Given the description of an element on the screen output the (x, y) to click on. 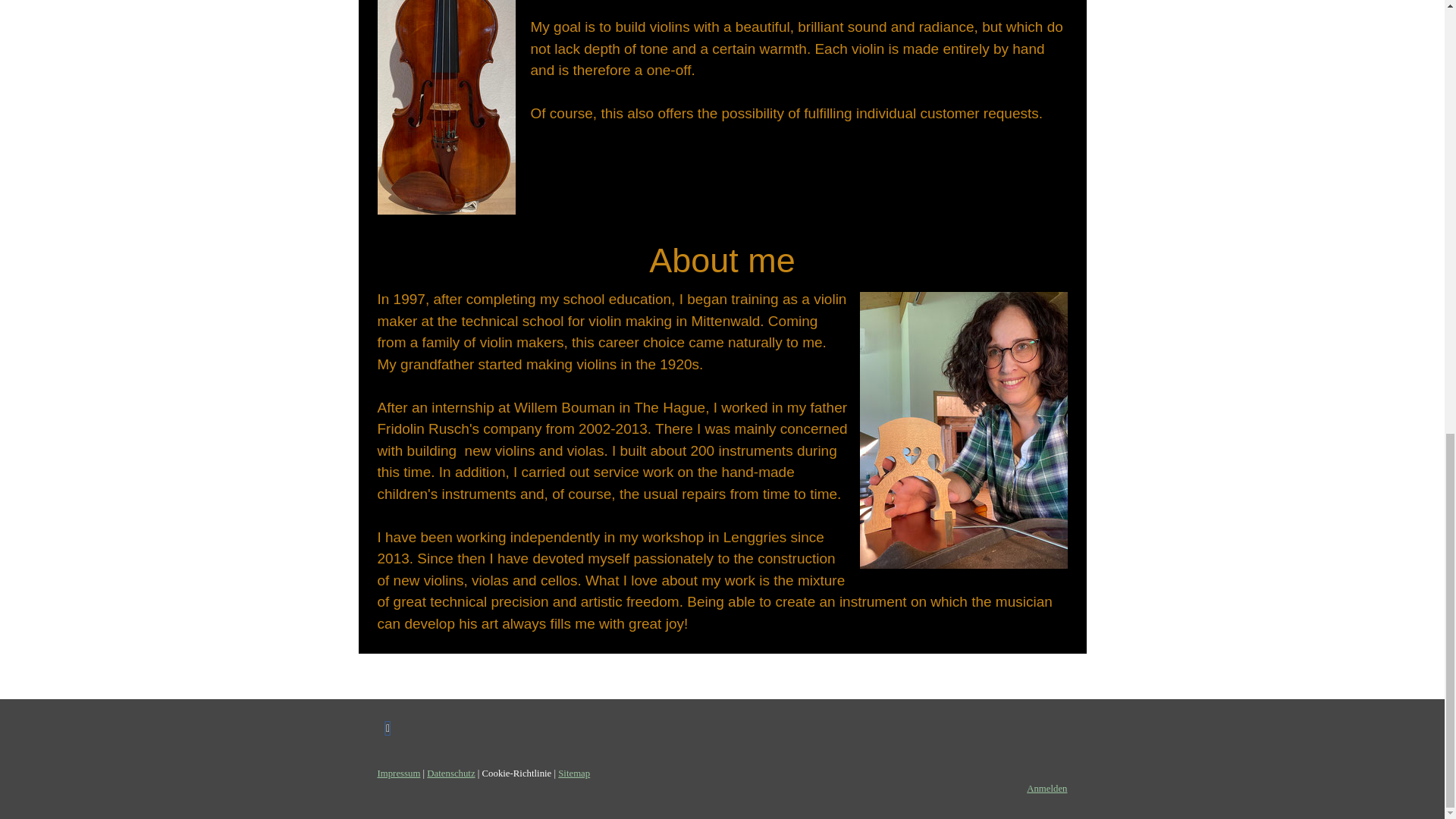
Cookie-Richtlinie (516, 773)
Anmelden (1046, 787)
Datenschutz (450, 773)
Impressum (398, 773)
Sitemap (573, 773)
Facebook (387, 728)
